Given the description of an element on the screen output the (x, y) to click on. 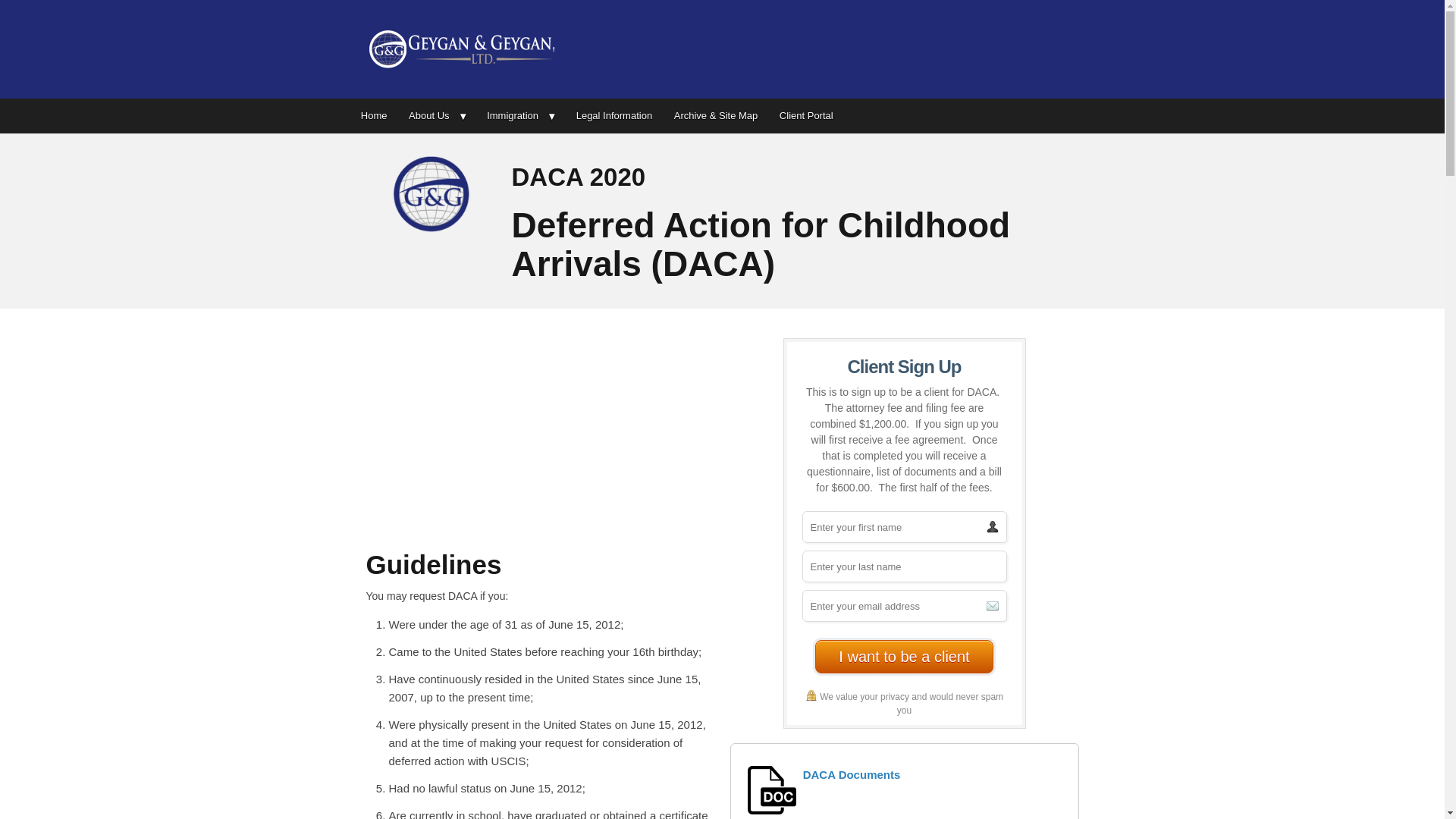
Immigration (521, 115)
Home (373, 115)
About Us (436, 115)
